Given the description of an element on the screen output the (x, y) to click on. 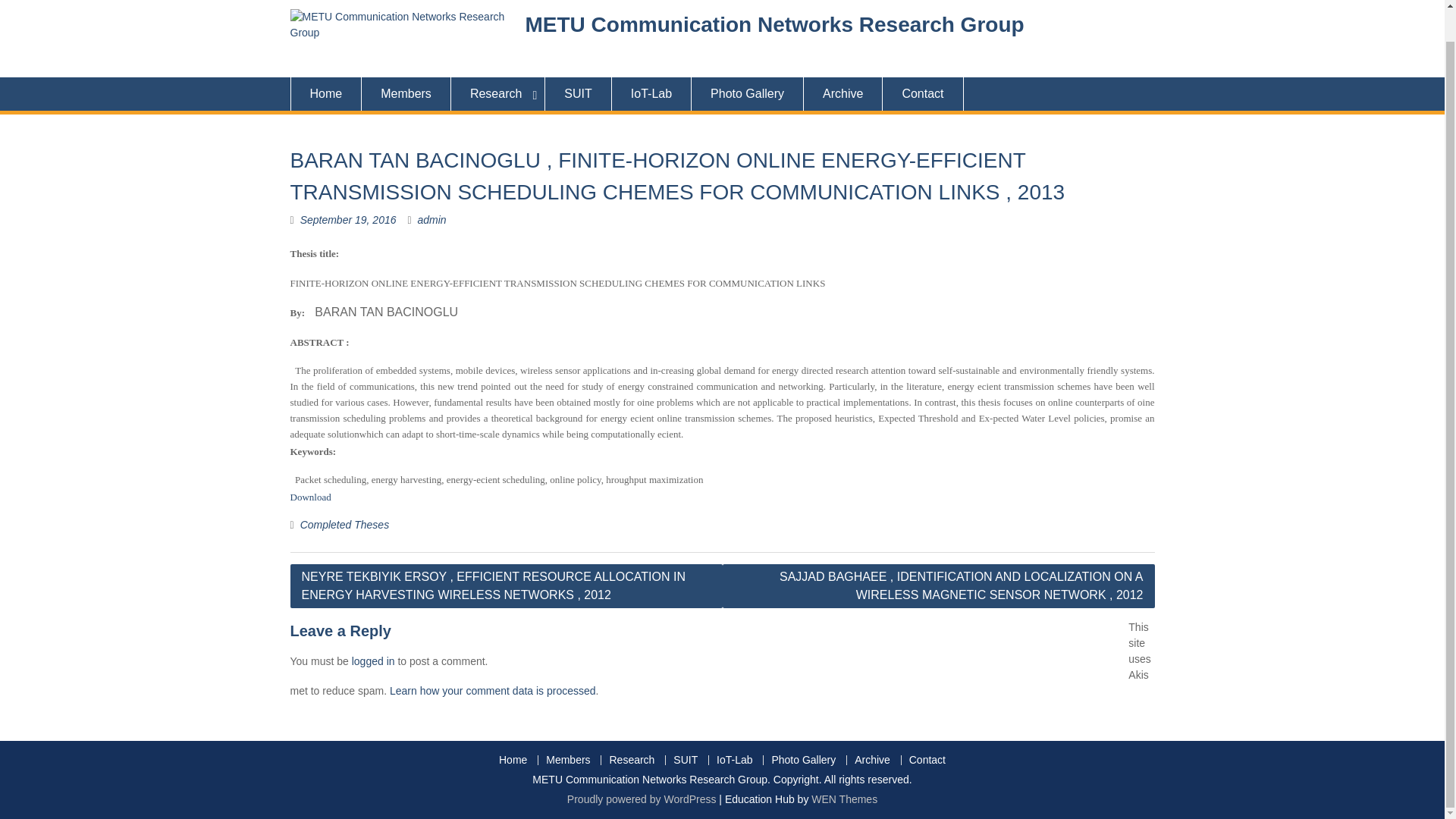
Download (309, 495)
admin (431, 219)
Members (406, 93)
logged in (373, 661)
Research (497, 93)
September 19, 2016 (347, 219)
Completed Theses (344, 524)
Photo Gallery (747, 93)
METU Communication Networks Research Group (773, 24)
Home (325, 93)
SUIT (577, 93)
IoT-Lab (651, 93)
Contact (922, 93)
